Given the description of an element on the screen output the (x, y) to click on. 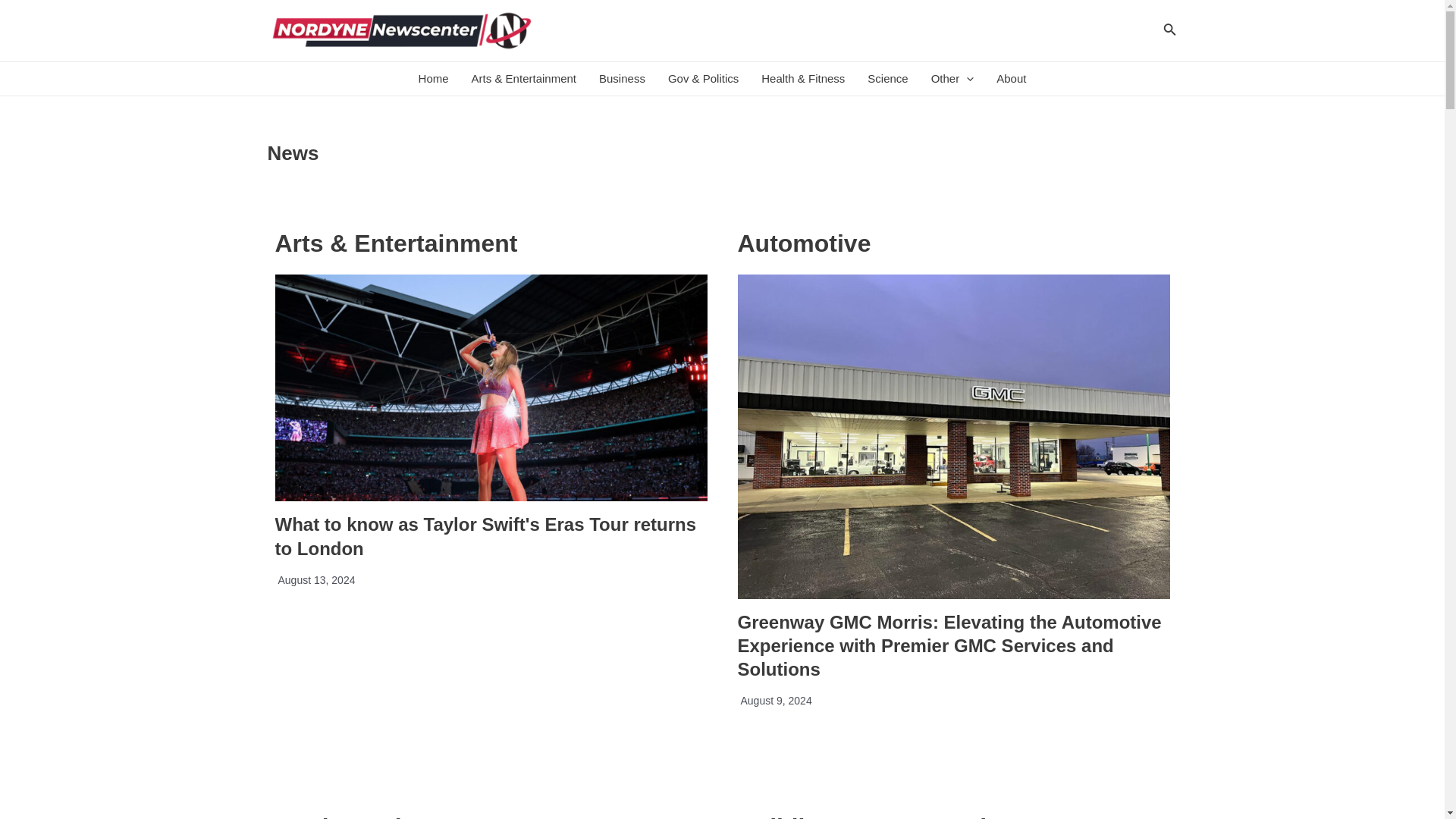
Business (622, 78)
Other (952, 78)
Home (433, 78)
About (1010, 78)
Science (887, 78)
